Given the description of an element on the screen output the (x, y) to click on. 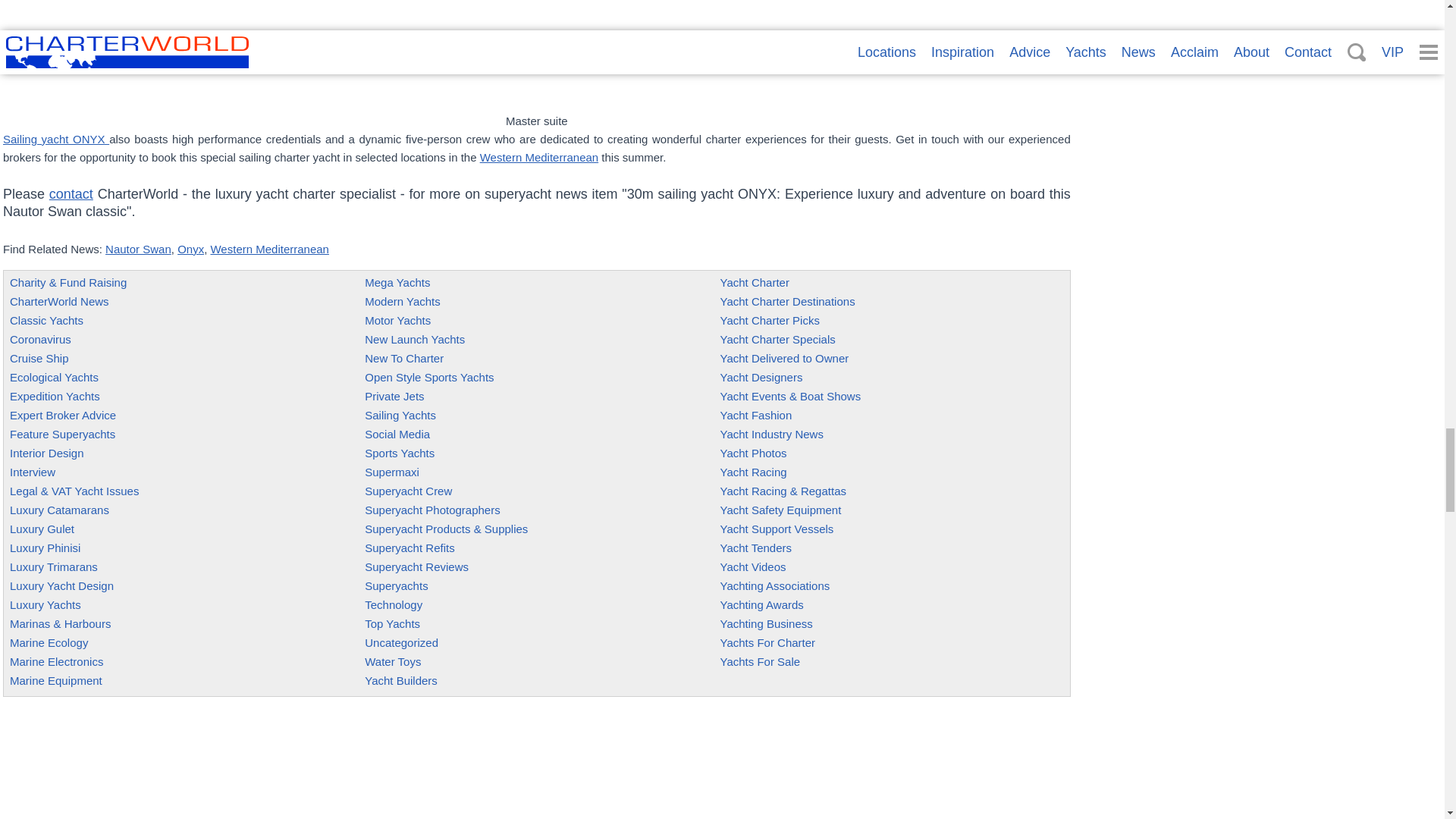
Sailing yacht ONYX (55, 138)
Ecological Yachts (54, 377)
Nautor Swan (137, 248)
contact (71, 193)
Expert Broker Advice (63, 414)
CharterWorld News (59, 300)
Expedition Yachts (55, 395)
